Given the description of an element on the screen output the (x, y) to click on. 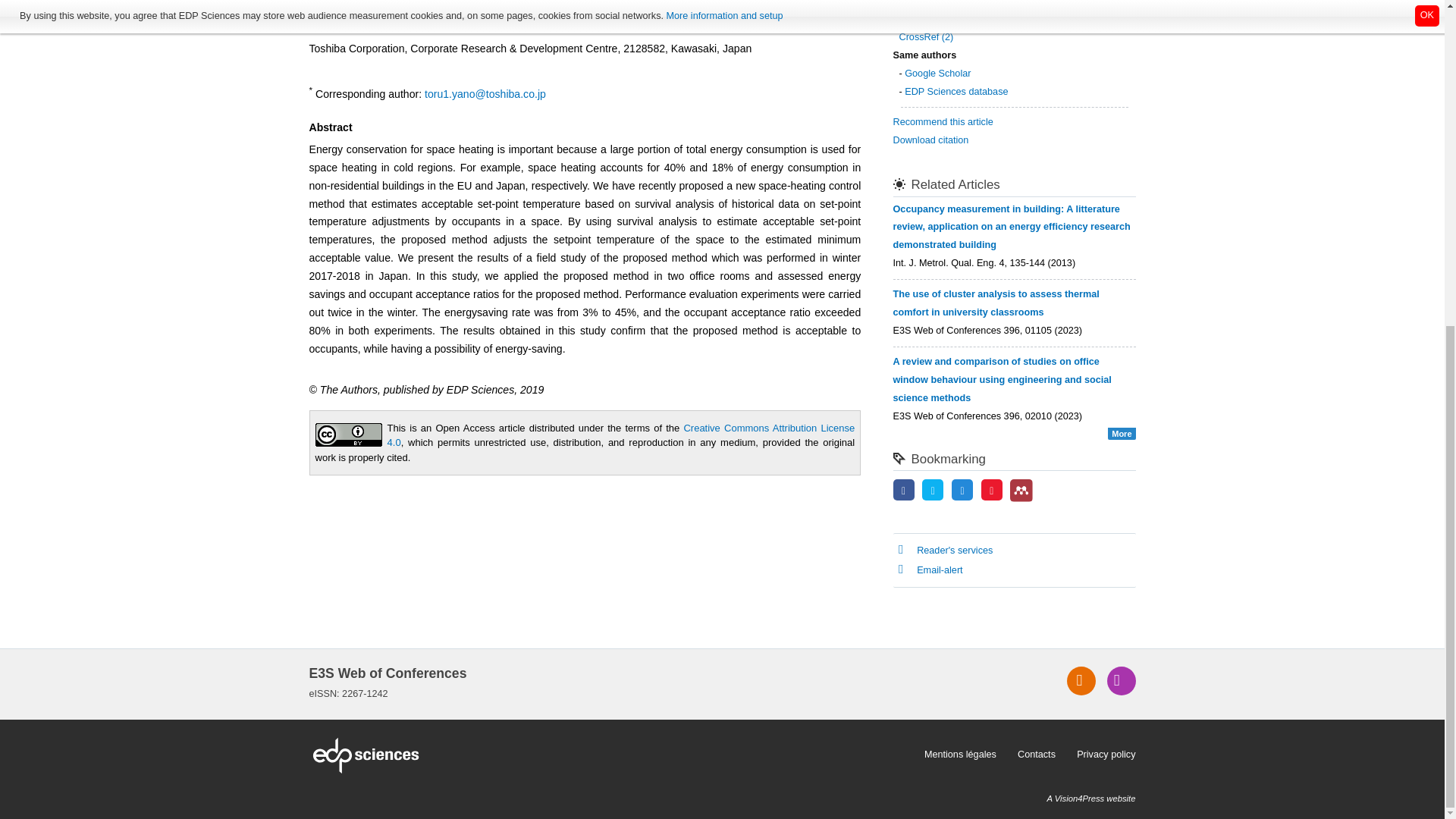
Mendeley (1021, 490)
